Given the description of an element on the screen output the (x, y) to click on. 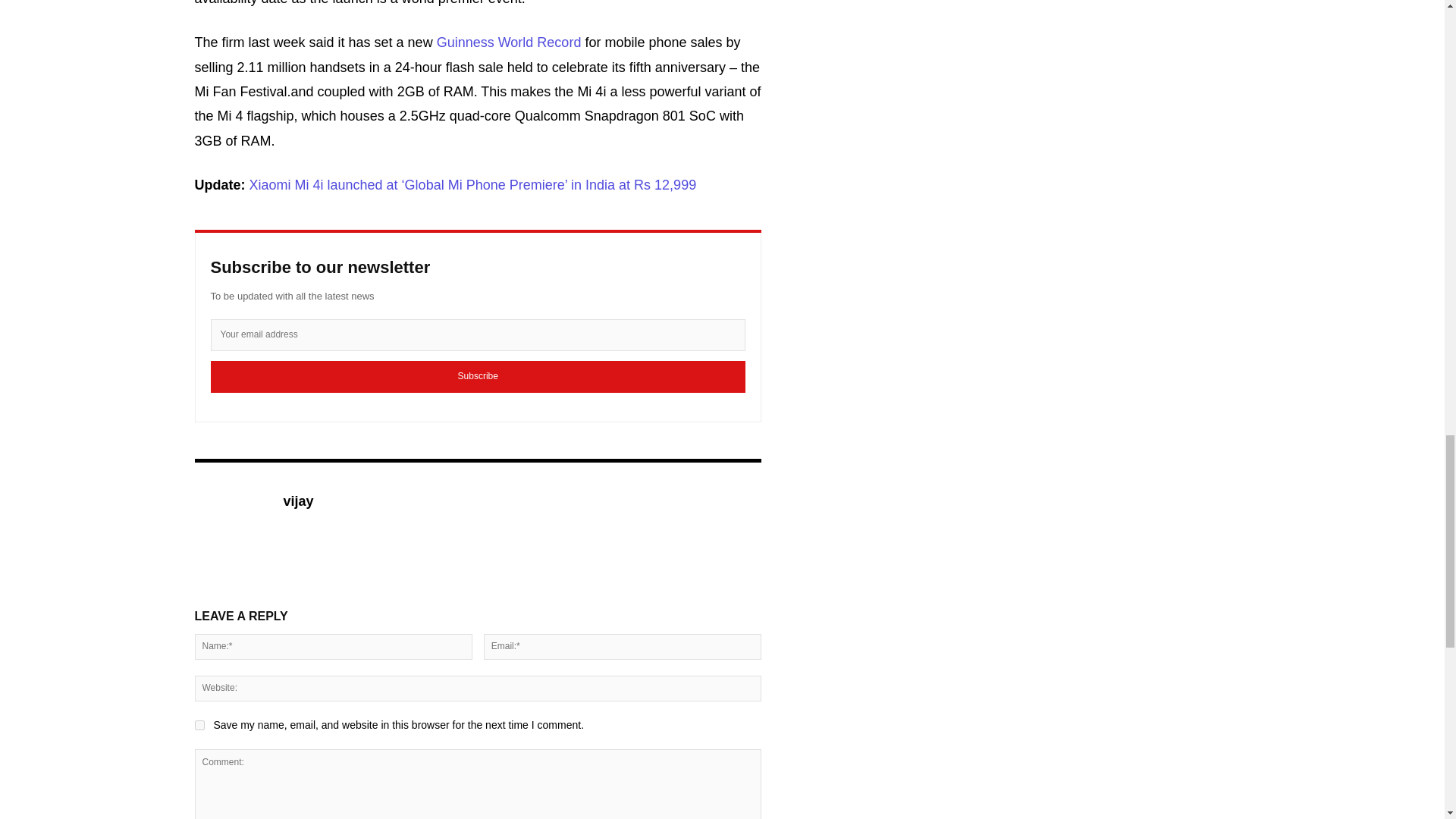
vijay (229, 524)
Guinness World Record (508, 42)
vijay (298, 501)
Subscribe (478, 377)
yes (198, 725)
